Given the description of an element on the screen output the (x, y) to click on. 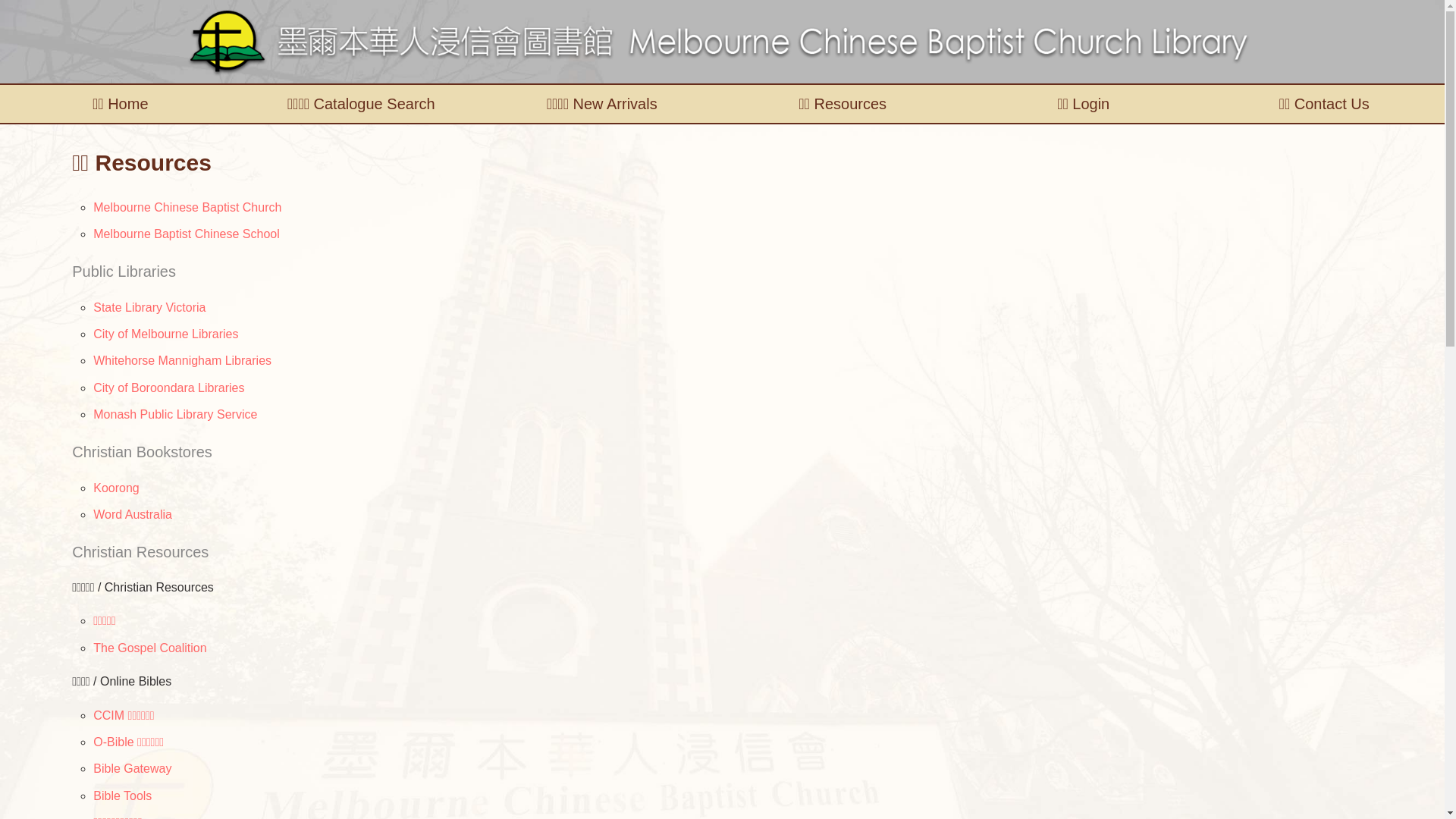
Bible Tools Element type: text (122, 795)
City of Melbourne Libraries Element type: text (165, 333)
City of Boroondara Libraries Element type: text (168, 387)
Whitehorse Mannigham Libraries Element type: text (182, 360)
Koorong Element type: text (116, 487)
The Gospel Coalition Element type: text (149, 647)
Monash Public Library Service Element type: text (175, 413)
Word Australia Element type: text (132, 514)
Bible Gateway Element type: text (132, 768)
Melbourne Chinese Baptist Church Element type: text (187, 206)
Melbourne Baptist Chinese School Element type: text (186, 233)
State Library Victoria Element type: text (149, 307)
